Given the description of an element on the screen output the (x, y) to click on. 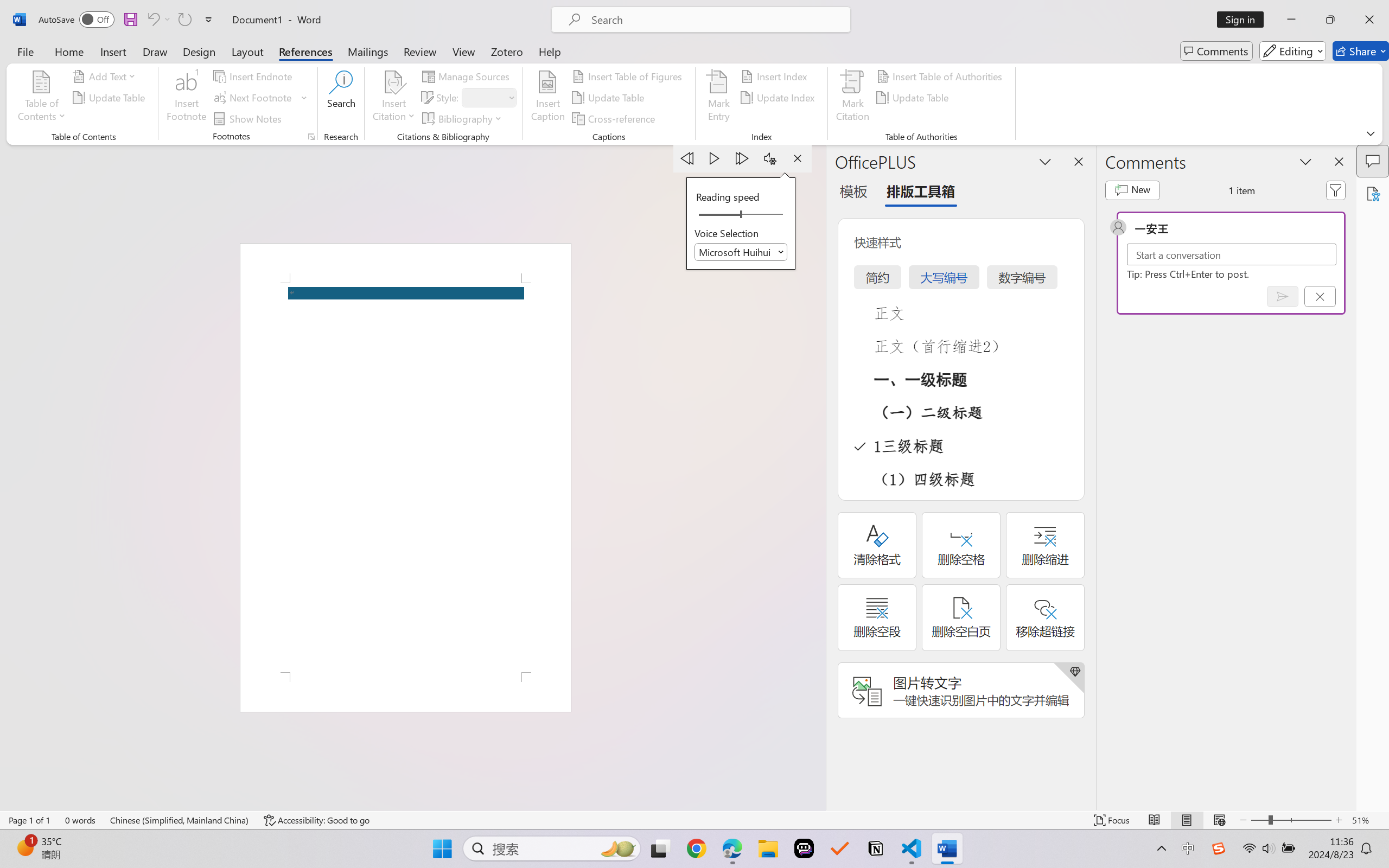
Mark Citation... (852, 97)
Language Chinese (Simplified, Mainland China) (179, 819)
Repeat Accessibility Checker (184, 19)
Cross-reference... (615, 118)
Cancel (1320, 296)
Insert Index... (775, 75)
